Given the description of an element on the screen output the (x, y) to click on. 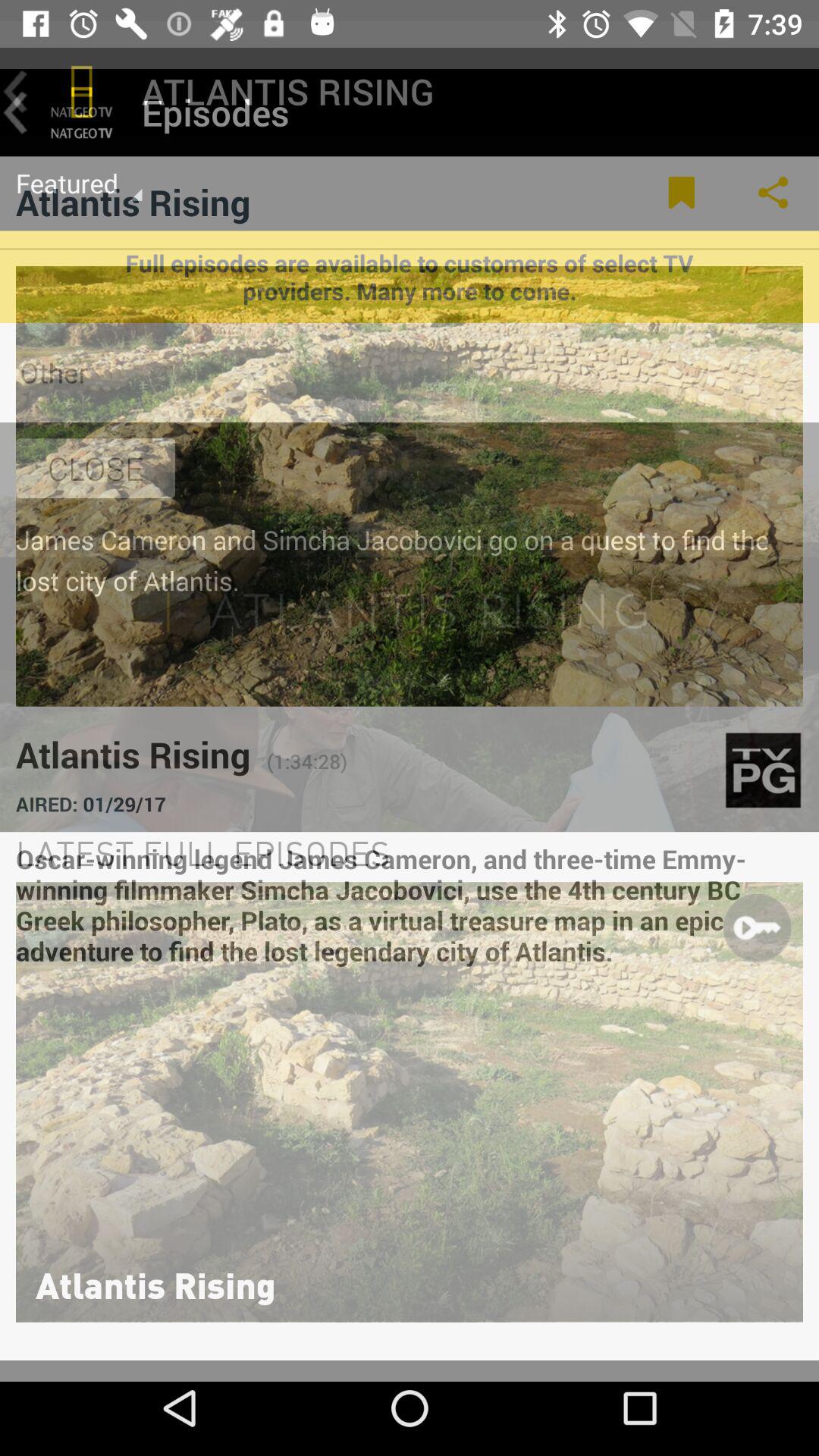
icon at the top right corner of second image (757, 926)
